Given the description of an element on the screen output the (x, y) to click on. 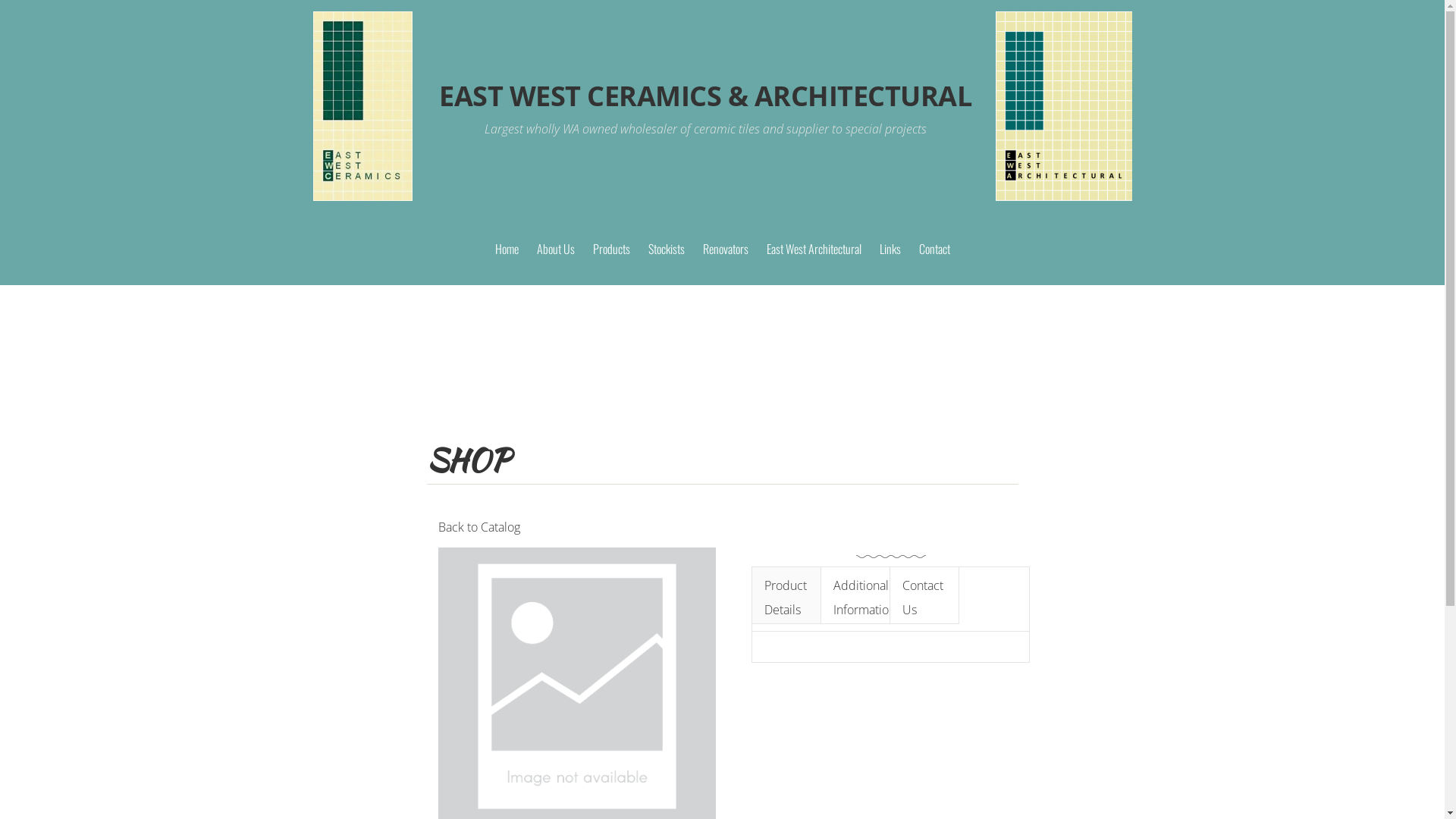
East West Architectural Element type: text (812, 248)
Renovators Element type: text (724, 248)
Home Element type: text (506, 248)
Products Element type: text (611, 248)
Contact Element type: text (934, 248)
Back to Catalog Element type: text (479, 526)
Stockists Element type: text (665, 248)
Links Element type: text (890, 248)
About Us Element type: text (555, 248)
